Given the description of an element on the screen output the (x, y) to click on. 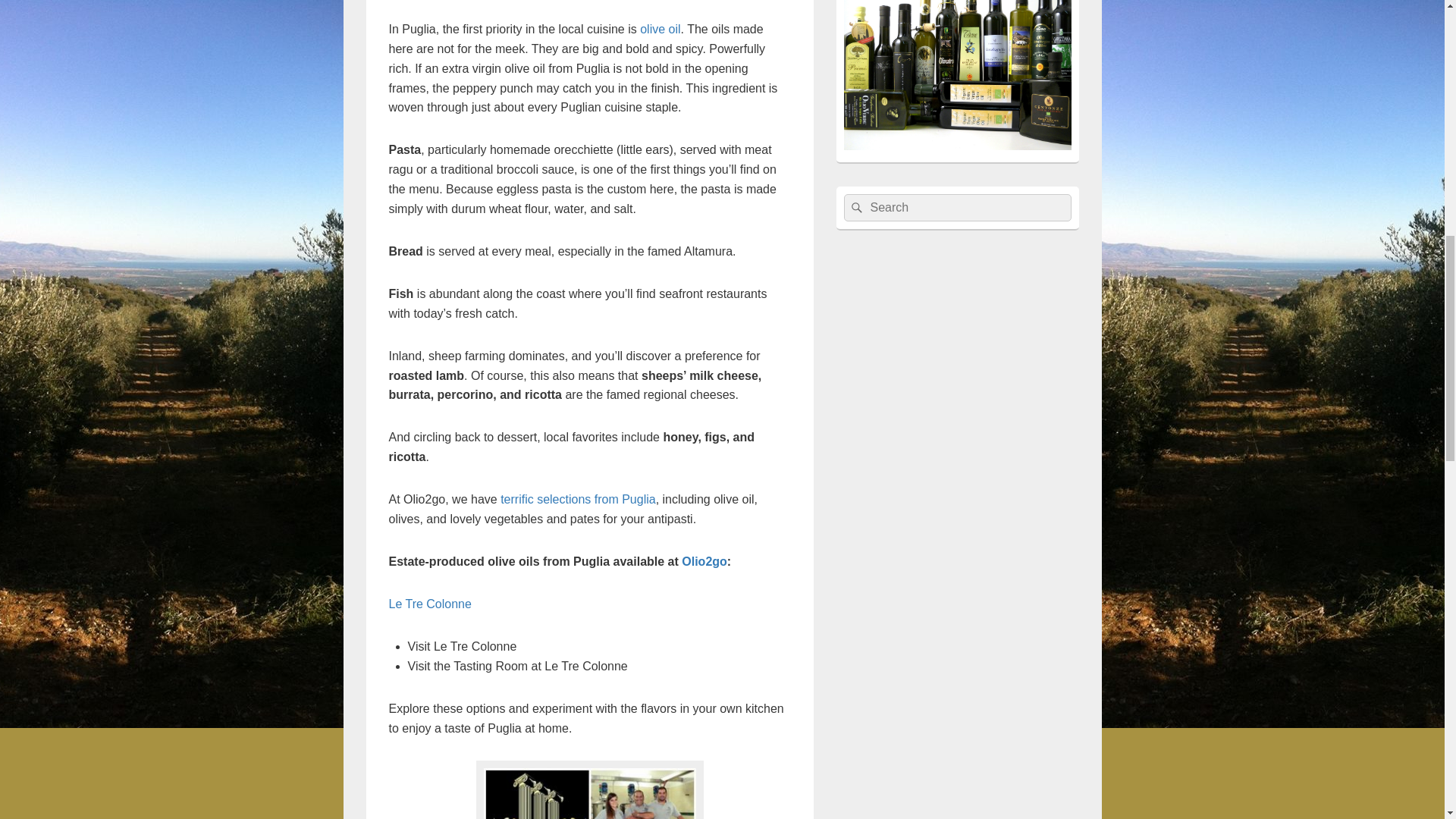
olive oil (659, 29)
Le Tre Colonne (429, 603)
Olio2go (703, 561)
terrific selections from Puglia (578, 499)
